Given the description of an element on the screen output the (x, y) to click on. 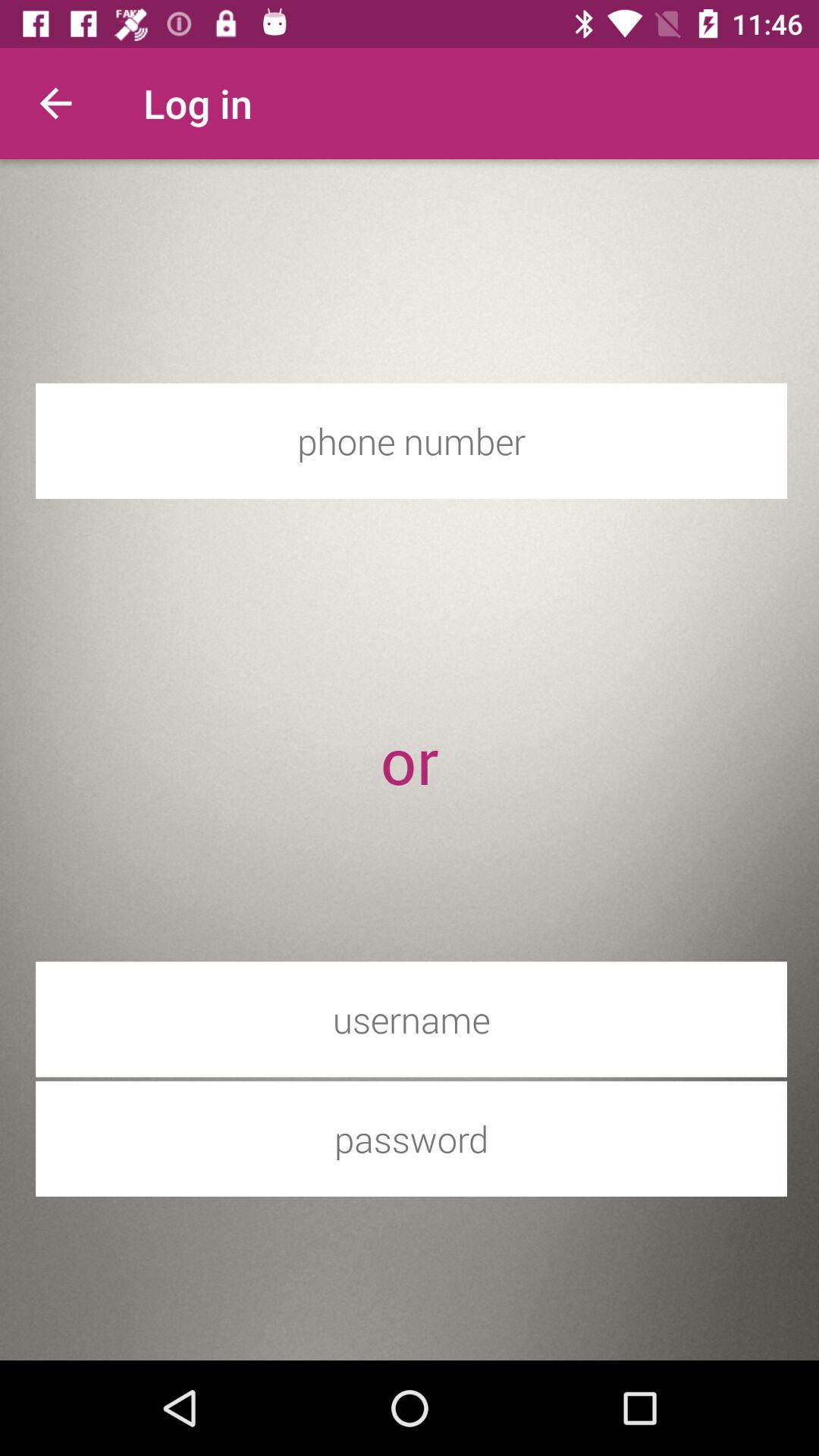
enter password (411, 1138)
